Given the description of an element on the screen output the (x, y) to click on. 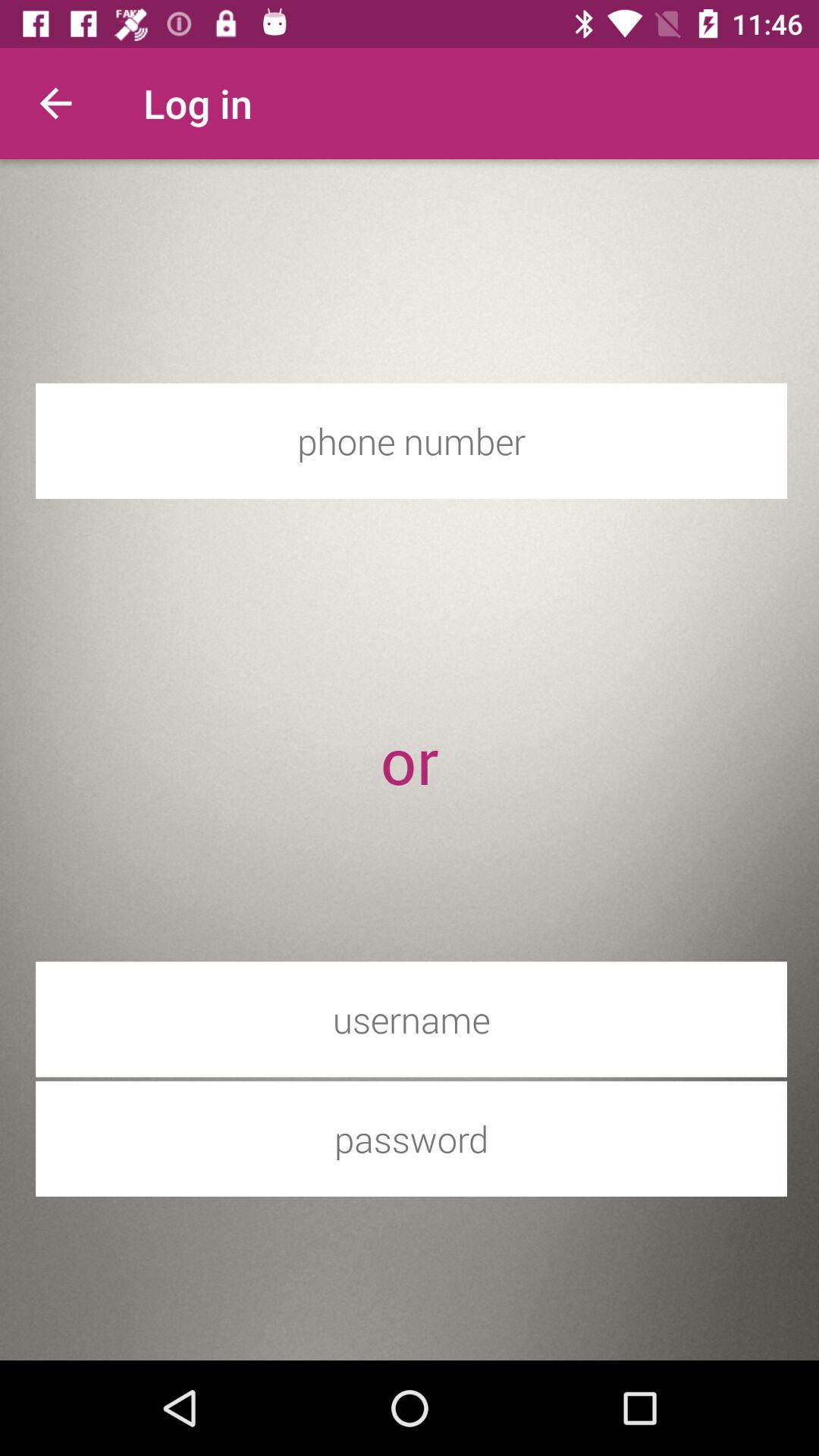
enter password (411, 1138)
